Given the description of an element on the screen output the (x, y) to click on. 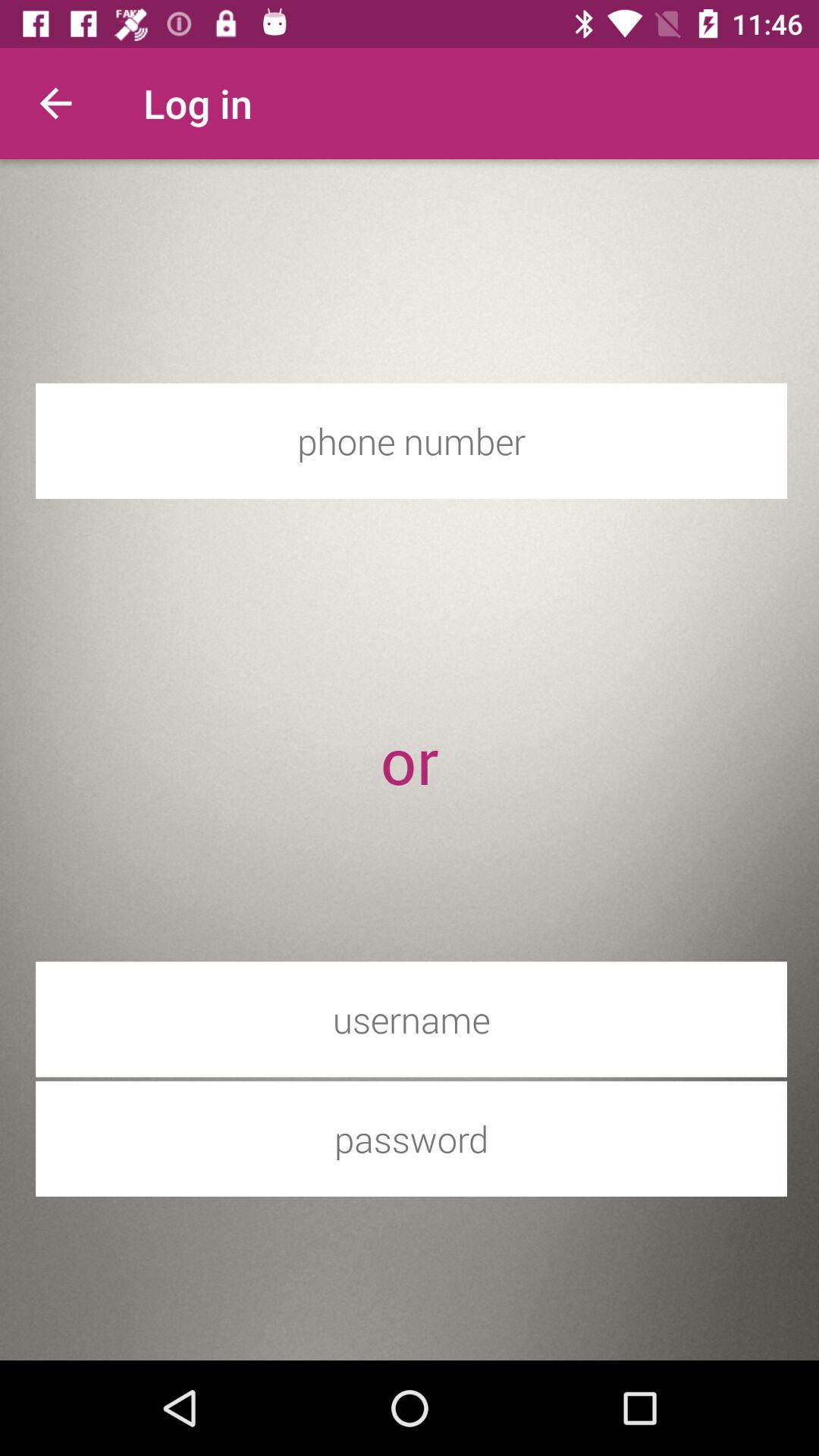
enter password (411, 1138)
